Given the description of an element on the screen output the (x, y) to click on. 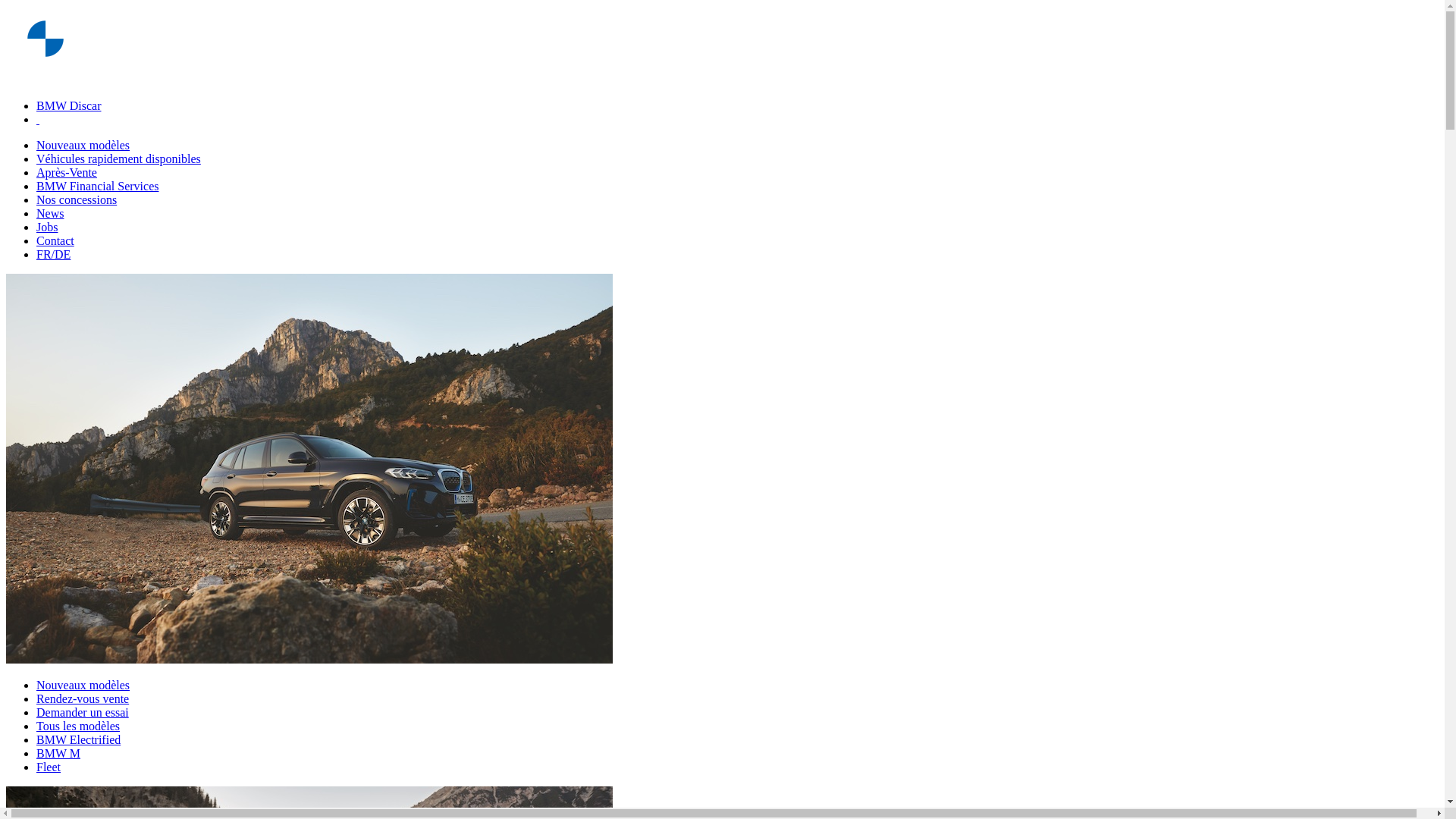
BMW Financial Services Element type: text (97, 185)
Demander un essai Element type: text (82, 712)
BMW Electrified Element type: text (78, 739)
Skip to main content Element type: text (6, 6)
FR/DE Element type: text (53, 253)
Nos concessions Element type: text (76, 199)
Fleet Element type: text (48, 766)
BMW Discar Element type: text (68, 105)
News Element type: text (49, 213)
Home Element type: hover (45, 79)
BMW M Element type: text (58, 752)
Jobs Element type: text (46, 226)
Rendez-vous vente Element type: text (82, 698)
Contact Element type: text (55, 240)
  Element type: text (37, 118)
